Given the description of an element on the screen output the (x, y) to click on. 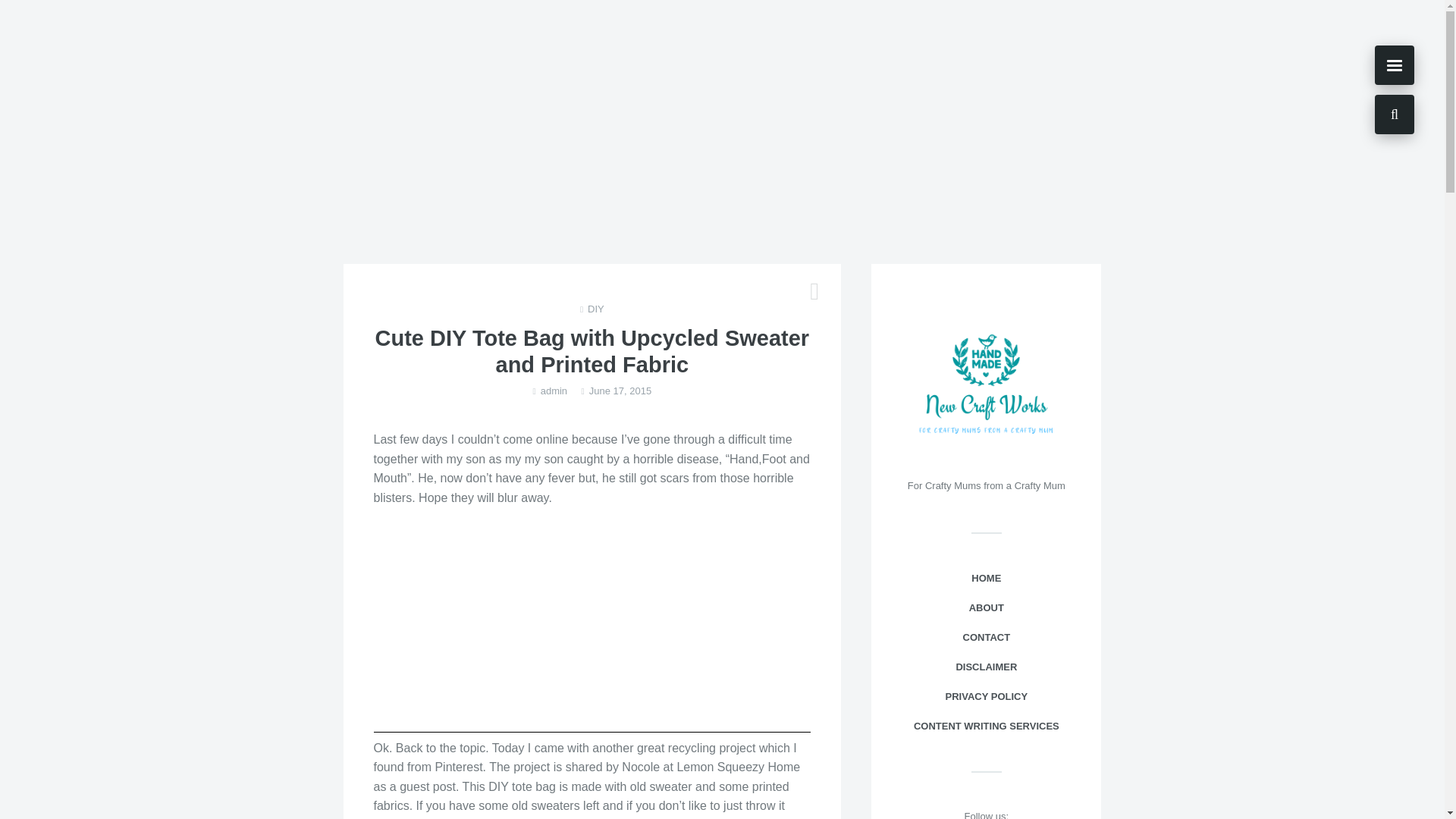
June 17, 2015 (619, 391)
DIY (596, 309)
Advertisement (591, 625)
DISCLAIMER (985, 667)
PRIVACY POLICY (985, 696)
CONTACT (985, 637)
CONTENT WRITING SERVICES (985, 726)
ABOUT (985, 608)
admin (553, 391)
HOME (985, 578)
